Given the description of an element on the screen output the (x, y) to click on. 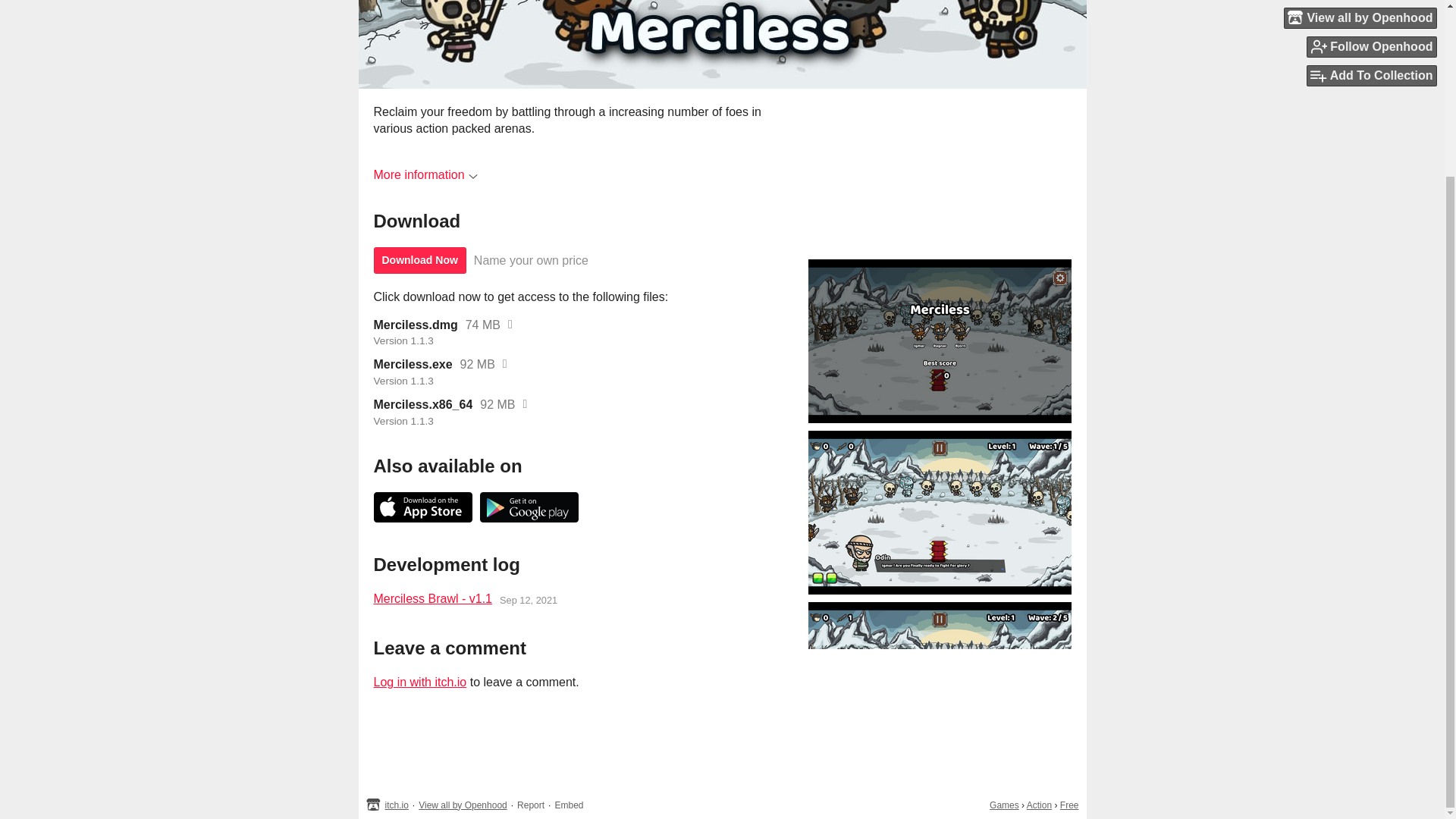
Embed (568, 805)
Action (1038, 805)
More information (424, 174)
Merciless.dmg (414, 325)
Download Now (418, 260)
View all by Openhood (462, 805)
Games (1004, 805)
Merciless.exe (411, 364)
Free (1068, 805)
Report (530, 805)
